Given the description of an element on the screen output the (x, y) to click on. 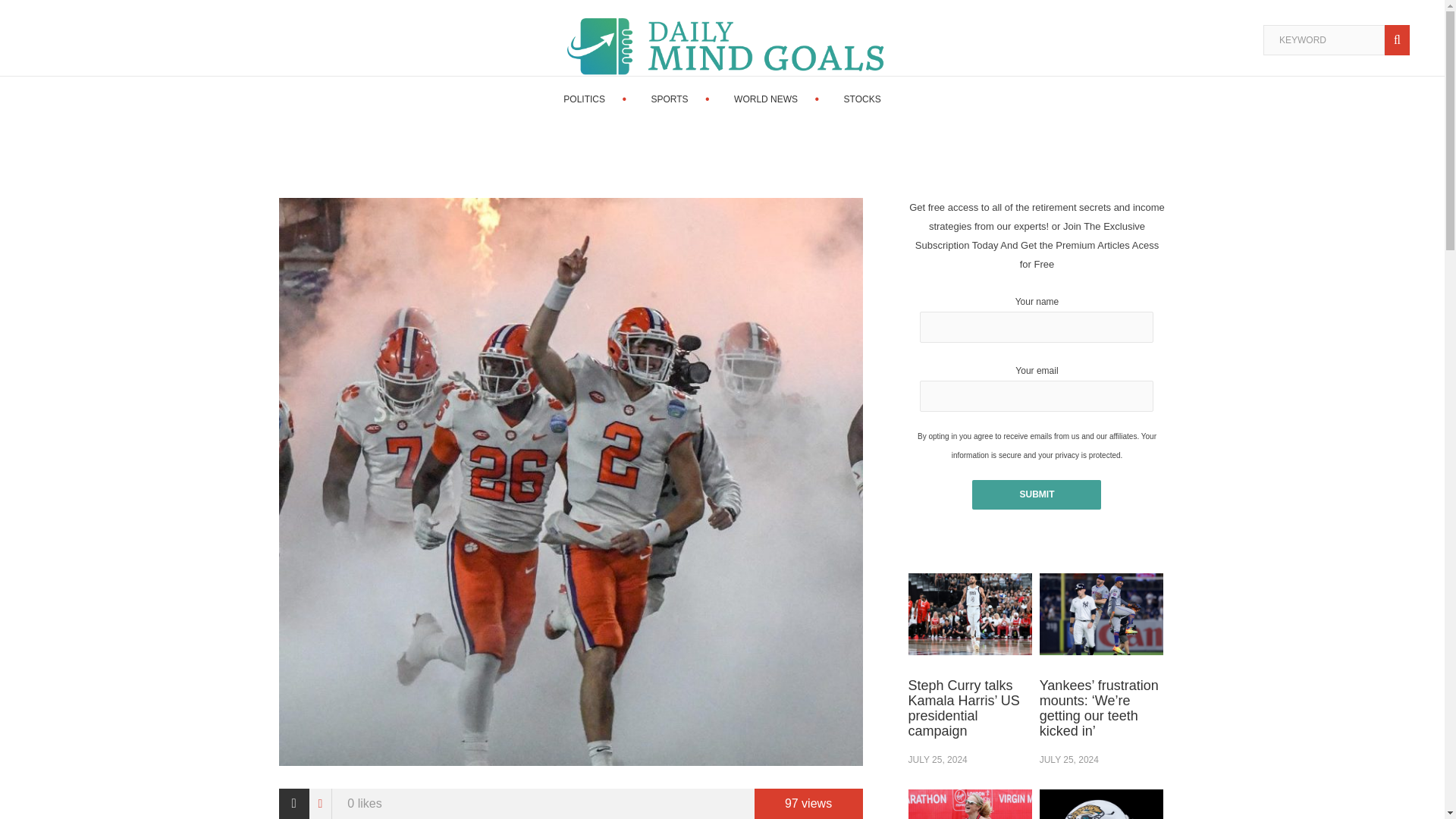
SPORTS (668, 98)
POLITICS (584, 98)
Politics (584, 98)
STOCKS (862, 98)
WORLD NEWS (765, 98)
Search (1399, 40)
Search (1399, 40)
Search (1399, 40)
Submit (1036, 493)
World News (765, 98)
Sports (668, 98)
Stocks (862, 98)
Submit (1036, 493)
